Given the description of an element on the screen output the (x, y) to click on. 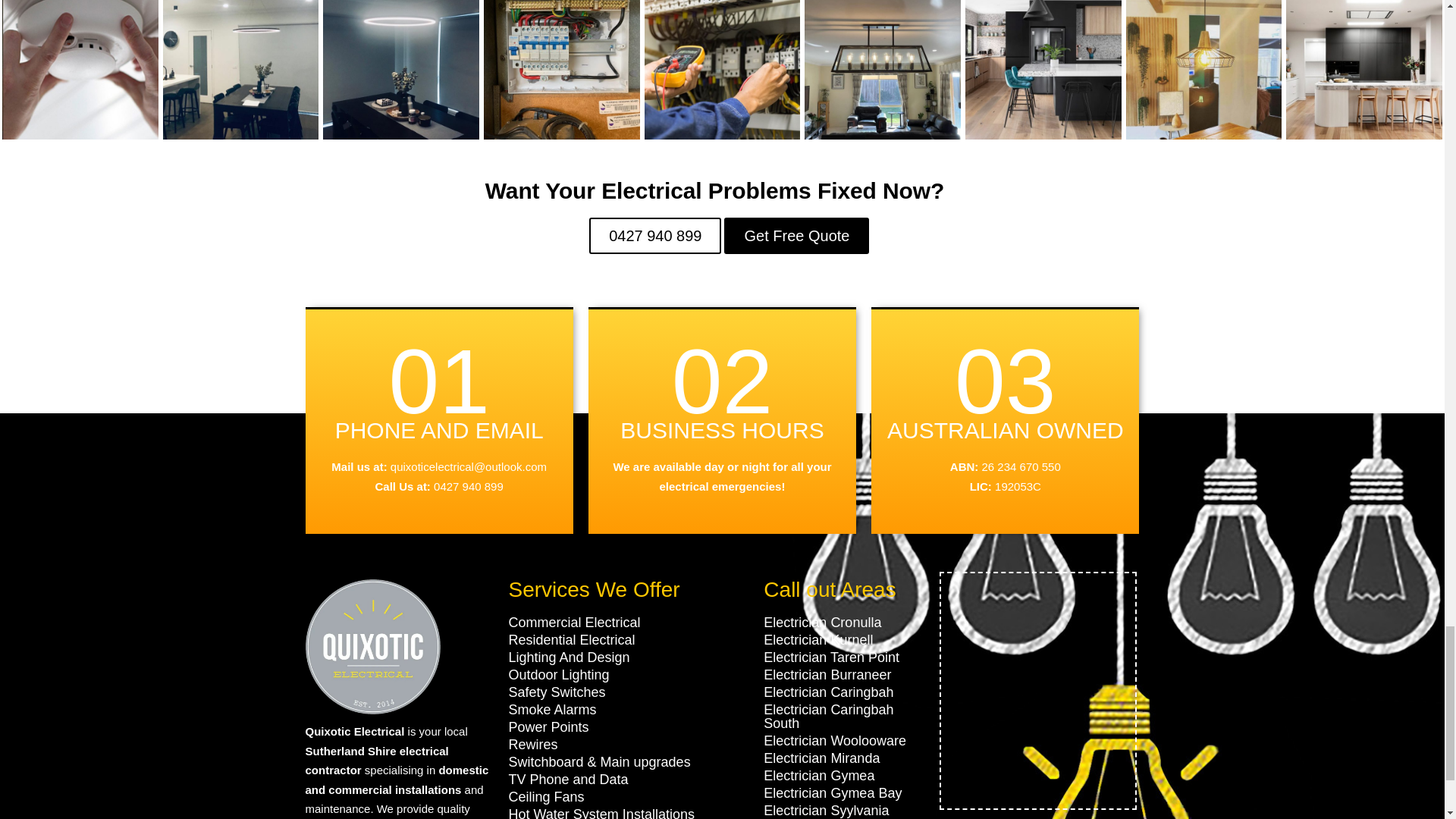
222 (722, 69)
227 (1363, 69)
223 (80, 69)
226 (882, 69)
224 (401, 69)
225 (240, 69)
Elect Select Electrical (561, 69)
220 (1203, 69)
221 (1043, 69)
